Given the description of an element on the screen output the (x, y) to click on. 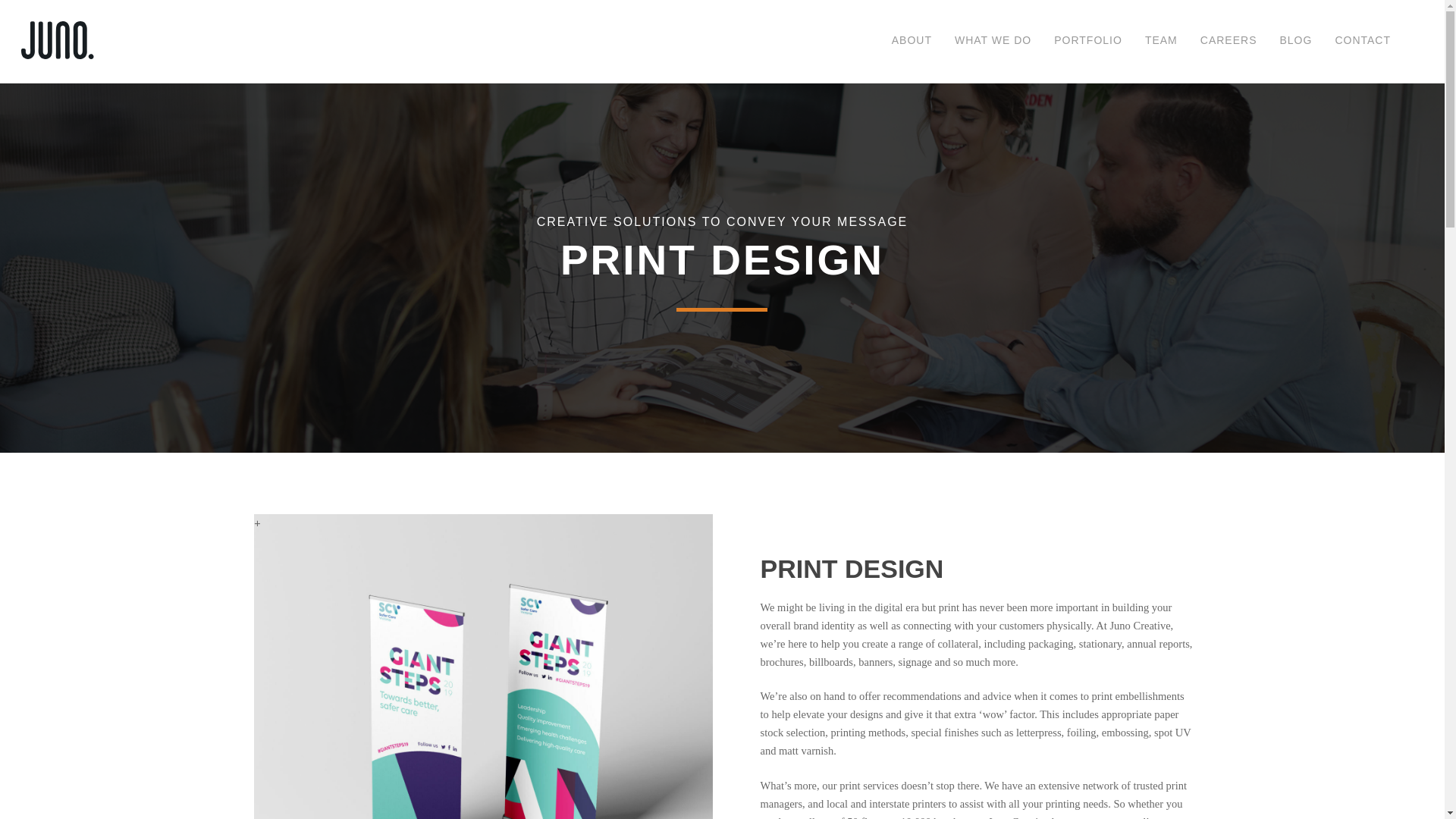
CAREERS (1228, 39)
PORTFOLIO (1088, 39)
CONTACT (1362, 39)
WHAT WE DO (992, 39)
ABOUT (911, 39)
TEAM (1160, 39)
BLOG (1295, 39)
